Given the description of an element on the screen output the (x, y) to click on. 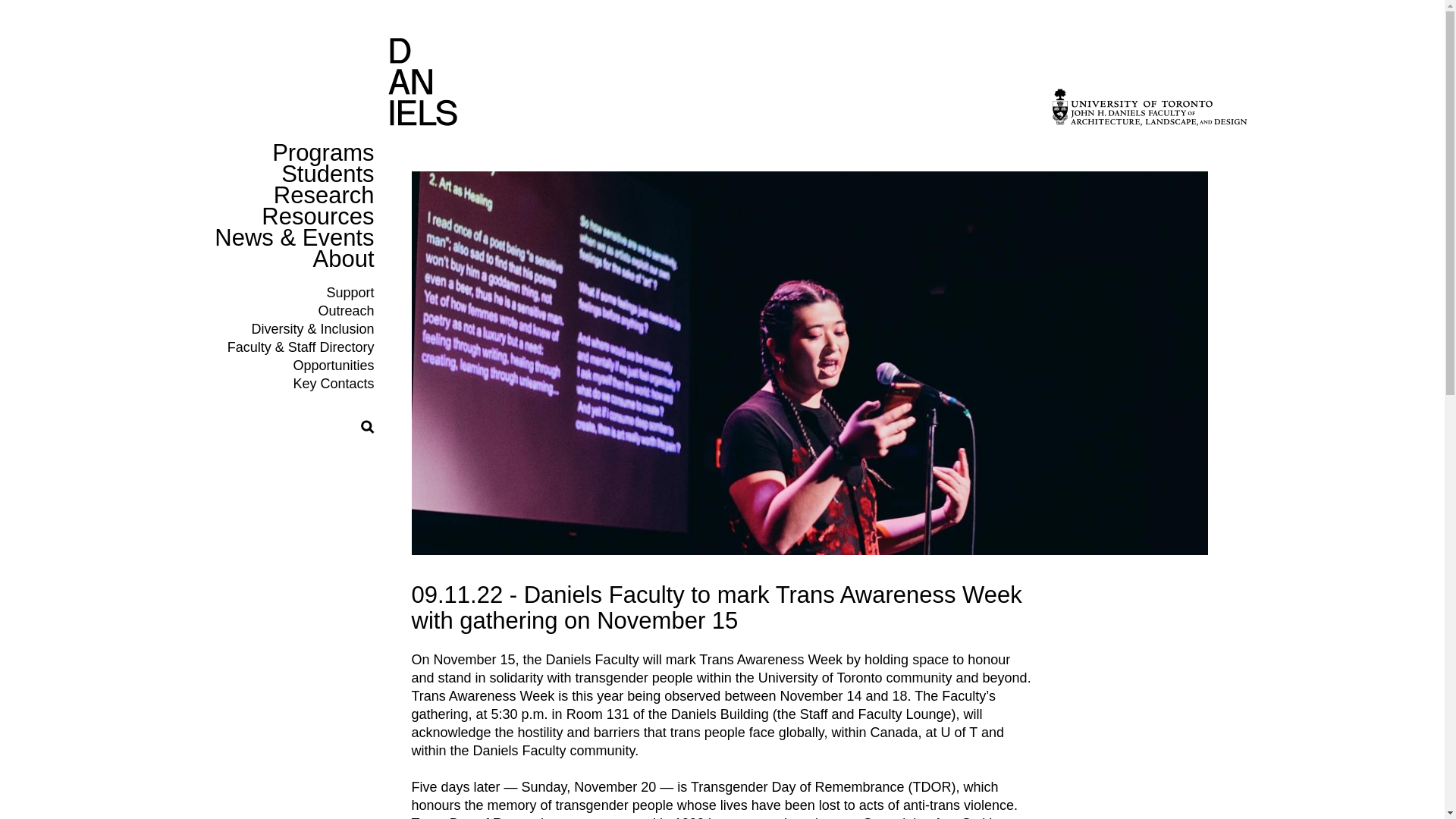
Support (350, 292)
About (343, 258)
Research (323, 194)
Key Contacts (333, 383)
Opportunities (333, 365)
Home (422, 117)
Programs (323, 152)
Outreach (345, 310)
Students (327, 173)
Resources (318, 216)
